Given the description of an element on the screen output the (x, y) to click on. 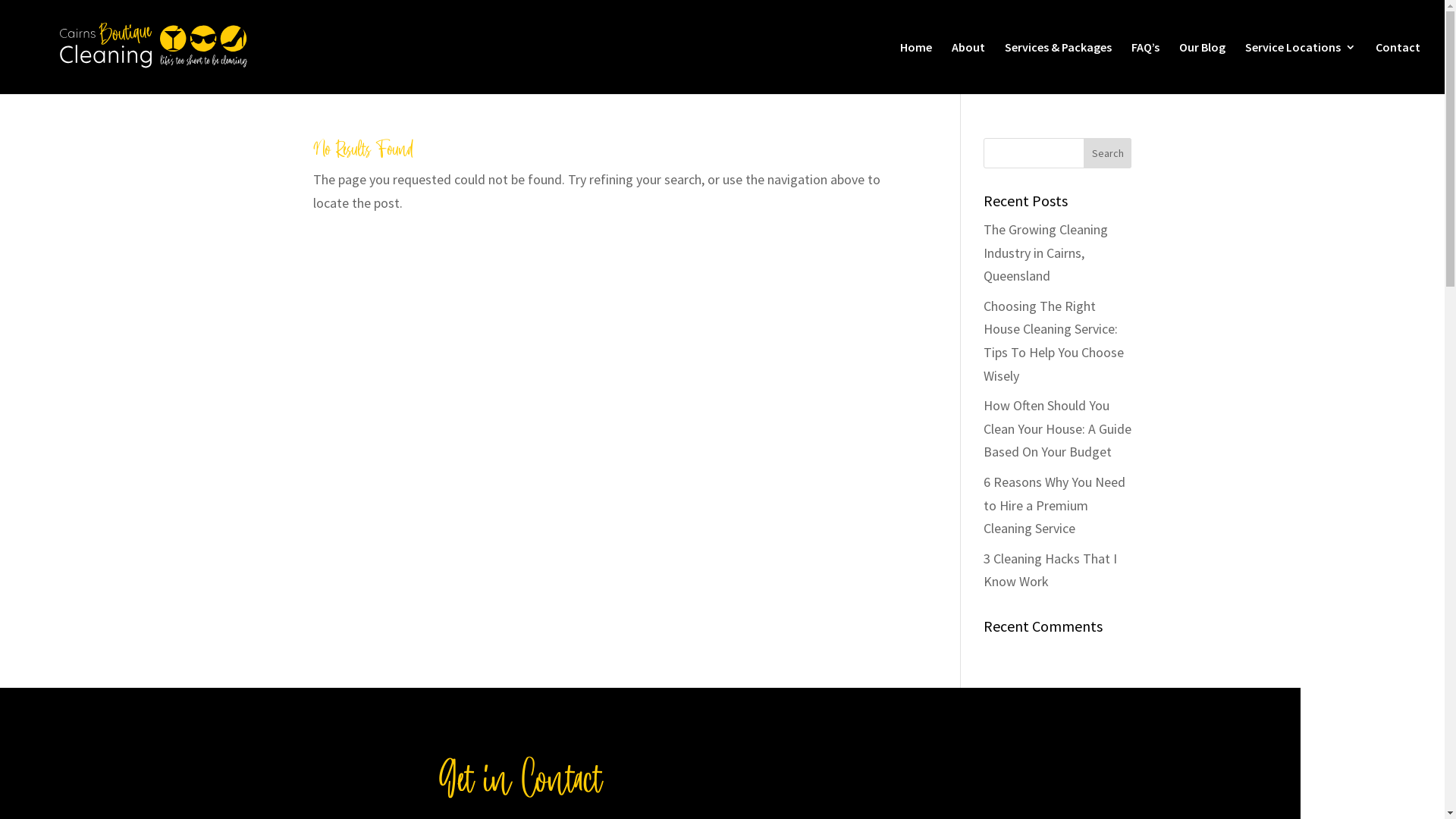
Services & Packages Element type: text (1057, 67)
Contact Element type: text (1397, 67)
Search Element type: text (1107, 153)
6 Reasons Why You Need to Hire a Premium Cleaning Service Element type: text (1054, 504)
The Growing Cleaning Industry in Cairns, Queensland Element type: text (1045, 252)
About Element type: text (968, 67)
Service Locations Element type: text (1300, 67)
Our Blog Element type: text (1202, 67)
Home Element type: text (915, 67)
3 Cleaning Hacks That I Know Work Element type: text (1050, 569)
